Given the description of an element on the screen output the (x, y) to click on. 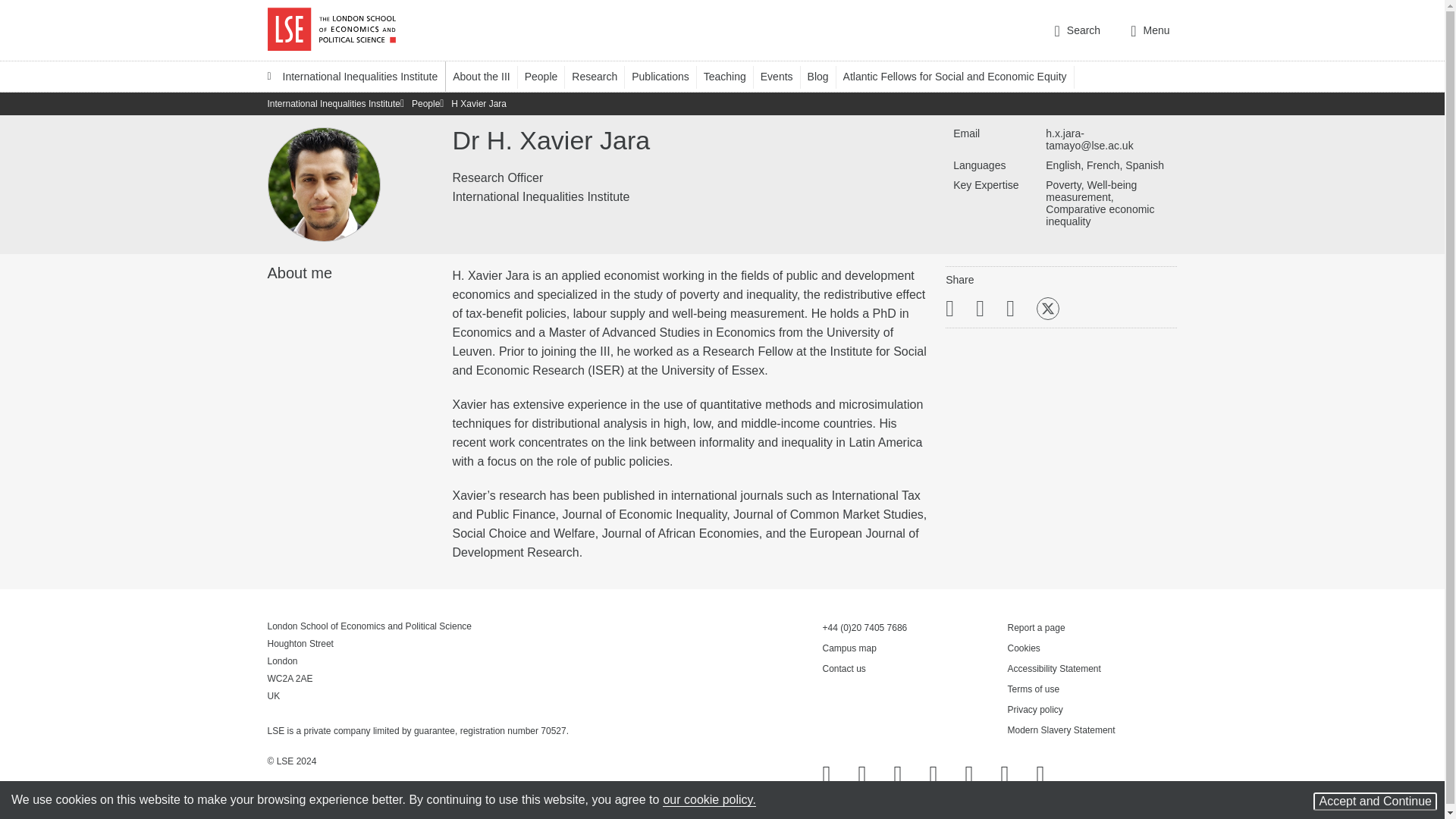
Events (784, 76)
Teaching (731, 76)
People (548, 76)
Research (601, 76)
Publications (667, 76)
Atlantic Fellows for Social and Economic Equity (962, 76)
International Inequalities Institute (352, 76)
our cookie policy. (708, 799)
About the III (488, 76)
Menu (1150, 30)
Blog (825, 76)
About the III (488, 76)
Events (784, 76)
Accept and Continue (1375, 801)
Research (601, 76)
